Given the description of an element on the screen output the (x, y) to click on. 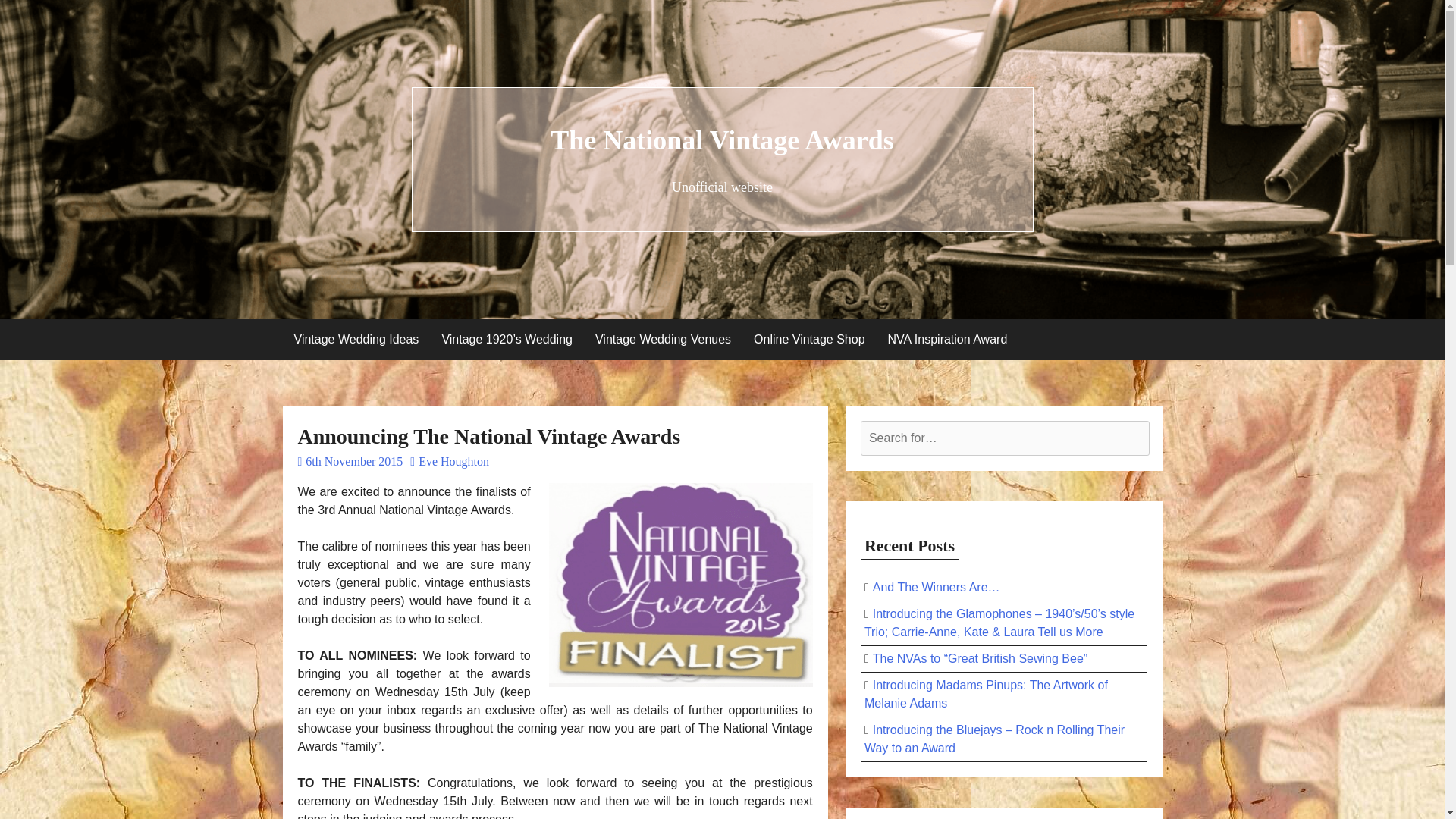
Vintage Wedding Venues (662, 339)
NVA Inspiration Award (947, 339)
Eve Houghton (449, 461)
6th November 2015 (350, 461)
Search for: (1005, 437)
The National Vintage Awards (721, 140)
Online Vintage Shop (809, 339)
Vintage Wedding Ideas (355, 339)
Introducing Madams Pinups: The Artwork of Melanie Adams (986, 694)
